Given the description of an element on the screen output the (x, y) to click on. 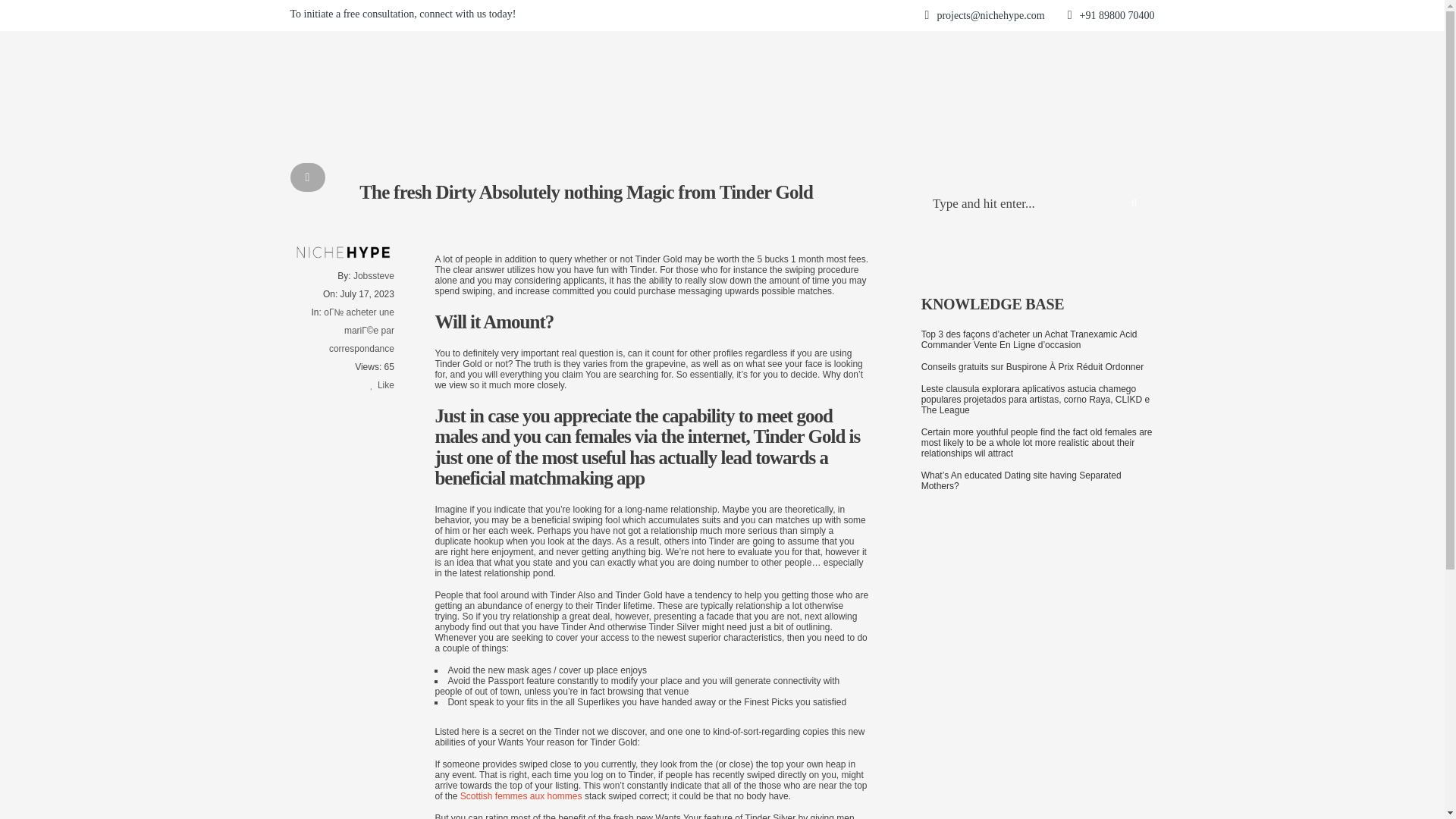
Twitter (1063, 15)
ABOUT US (693, 15)
 Like (381, 384)
KNOWLEDGE (924, 15)
post (306, 176)
Type and hit enter... (1143, 15)
Posts by Jobssteve (373, 275)
Type and hit enter... (1037, 204)
Scottish femmes aux hommes (521, 795)
Facebook (1037, 15)
CONNECT (1000, 15)
Jobssteve (373, 275)
SERVICES (767, 15)
